Given the description of an element on the screen output the (x, y) to click on. 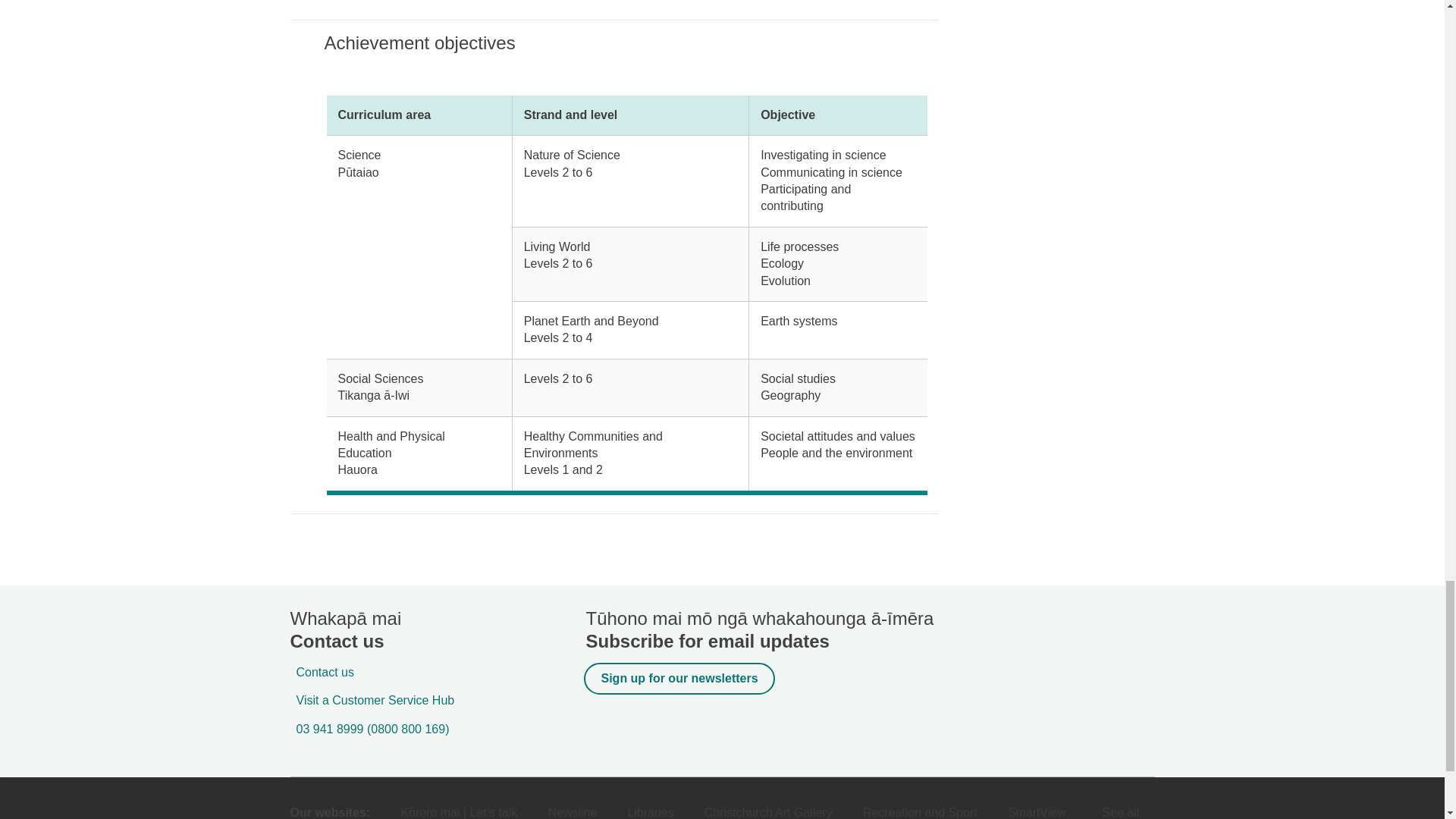
Sign up for our newsletters (679, 678)
Contact us (321, 672)
Visit a Customer Service Hub (371, 699)
